Given the description of an element on the screen output the (x, y) to click on. 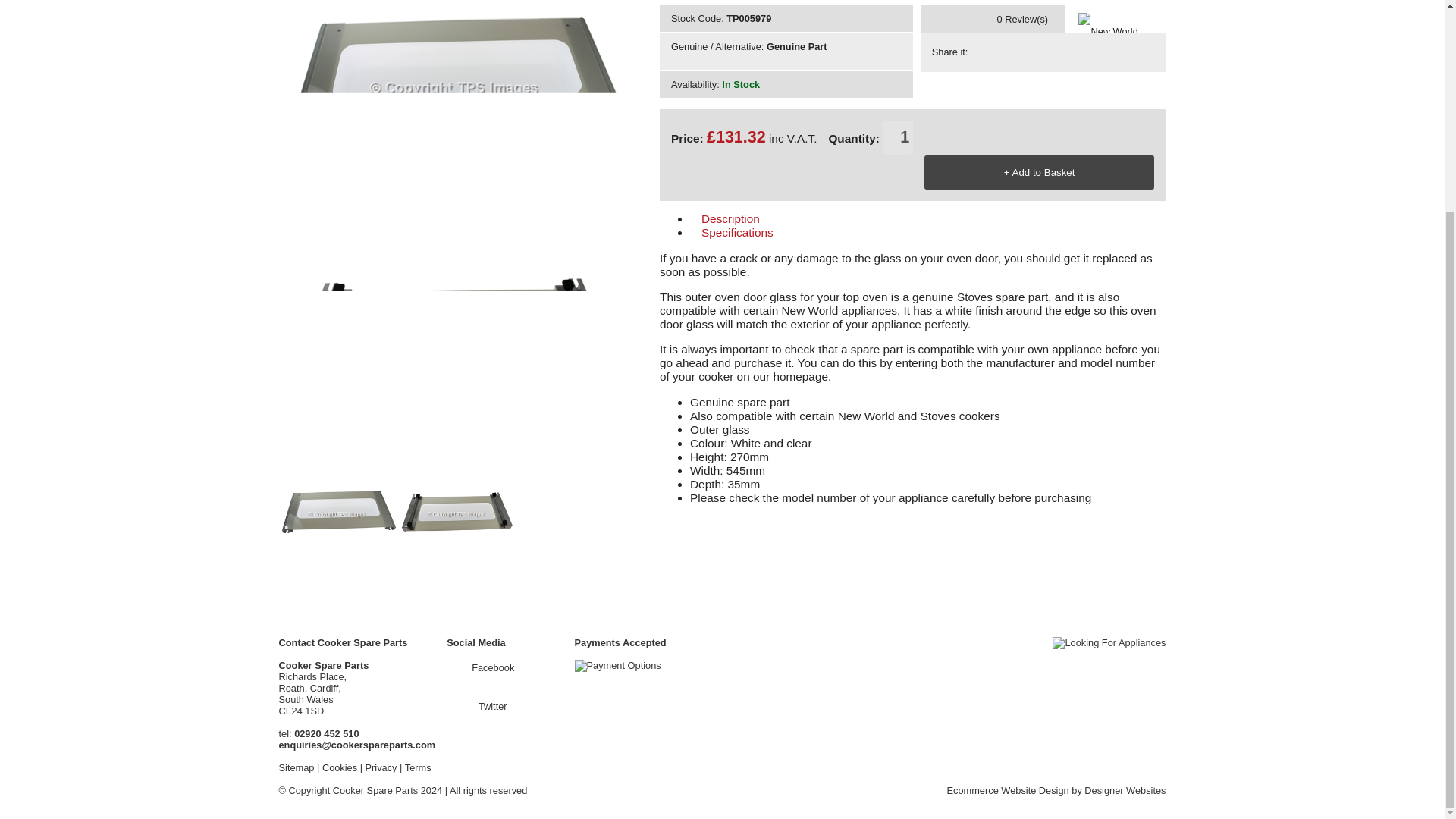
call us today on 02920 452 510 (326, 733)
Twitter (479, 706)
Terms (417, 767)
Cookies (338, 767)
Description (809, 219)
Leave a review (991, 39)
02920 452 510 (326, 733)
Privacy (381, 767)
Sitemap (296, 767)
Ecommerce Website Design (1007, 790)
